Given the description of an element on the screen output the (x, y) to click on. 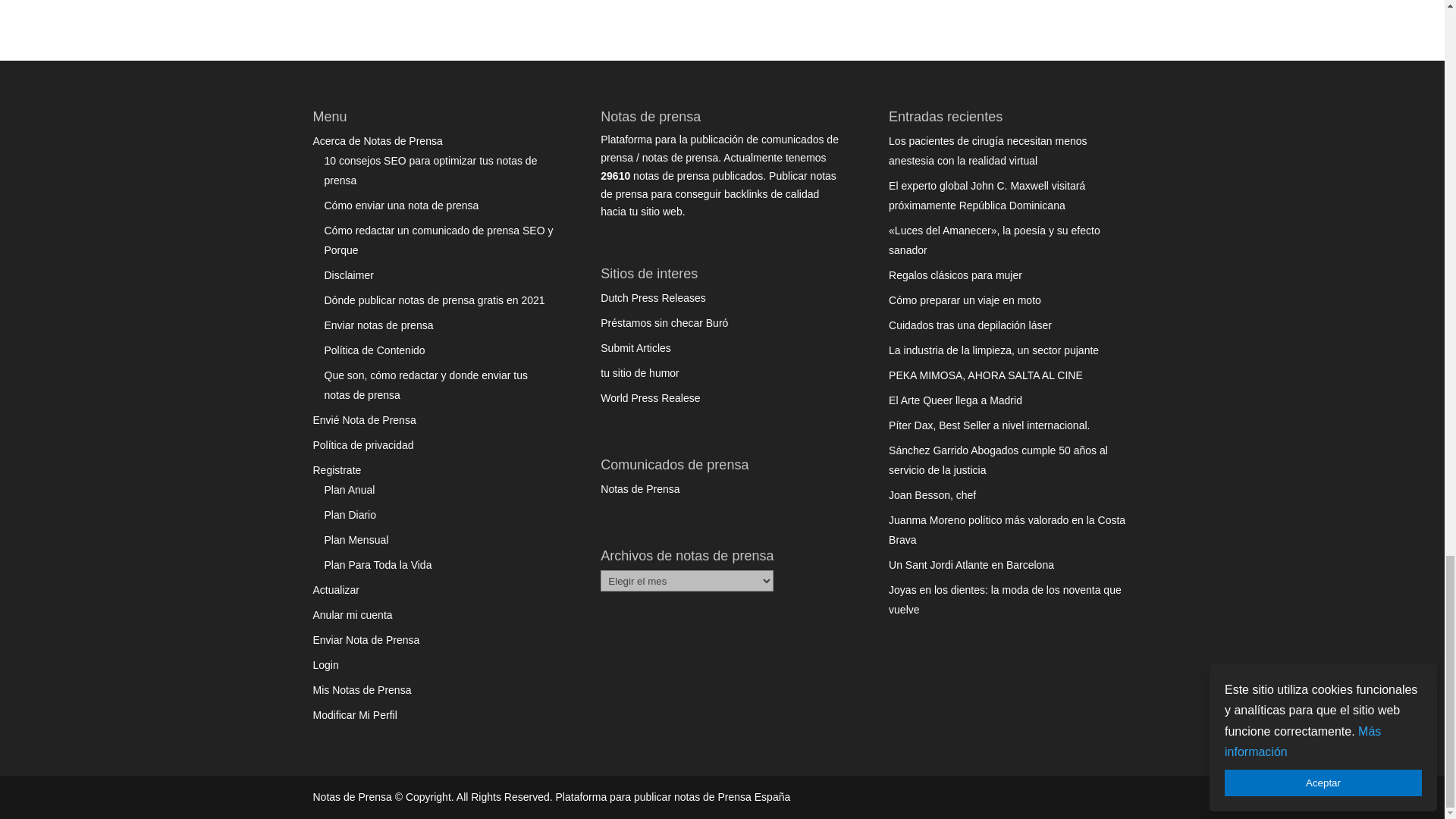
Article Submission Website (635, 347)
Comunicados de Prensa en Holandes (652, 297)
Submit English Press Releases (649, 398)
